Given the description of an element on the screen output the (x, y) to click on. 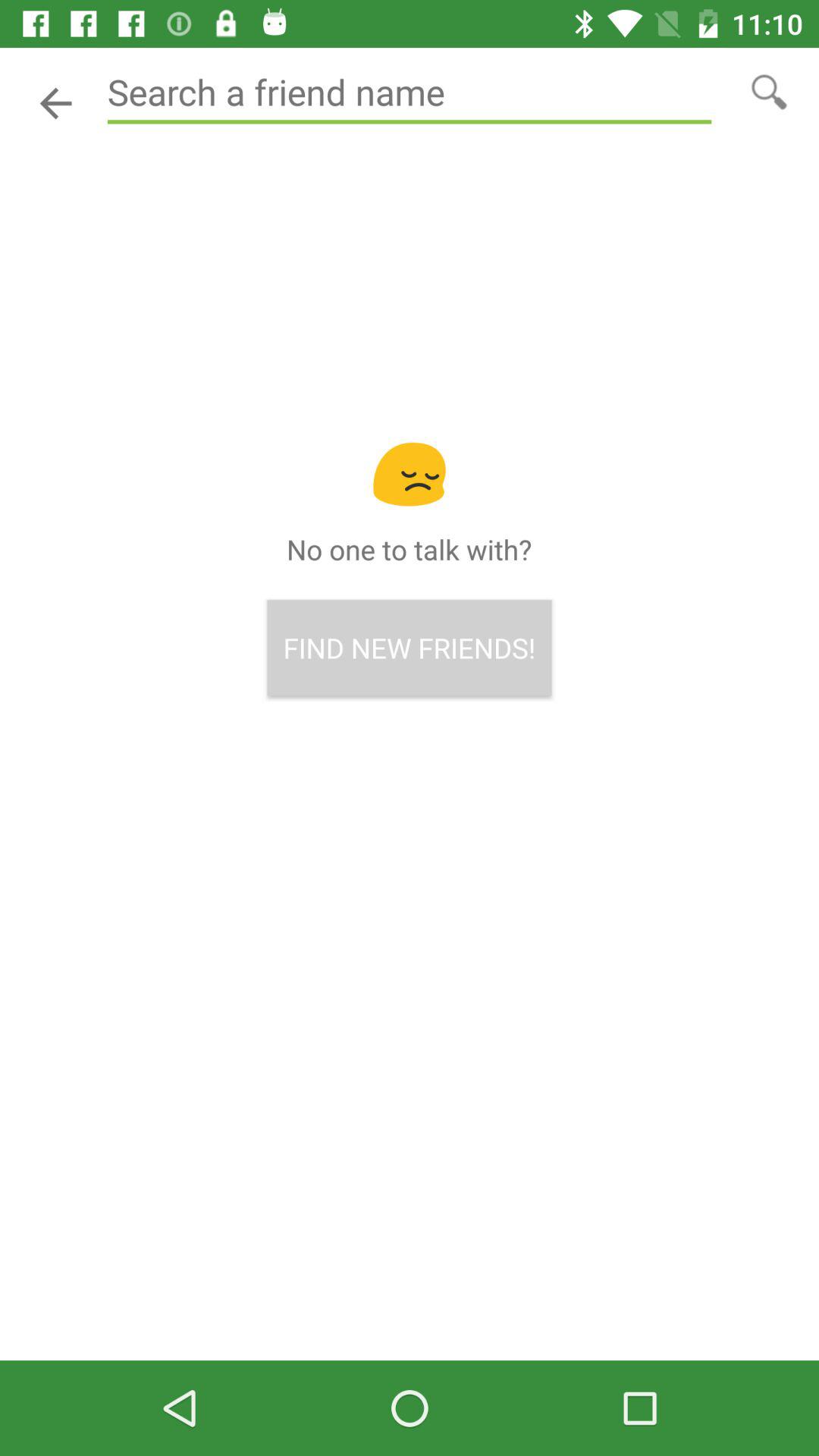
an arrow that points to the left and indicates a back page when pressed (55, 103)
